Given the description of an element on the screen output the (x, y) to click on. 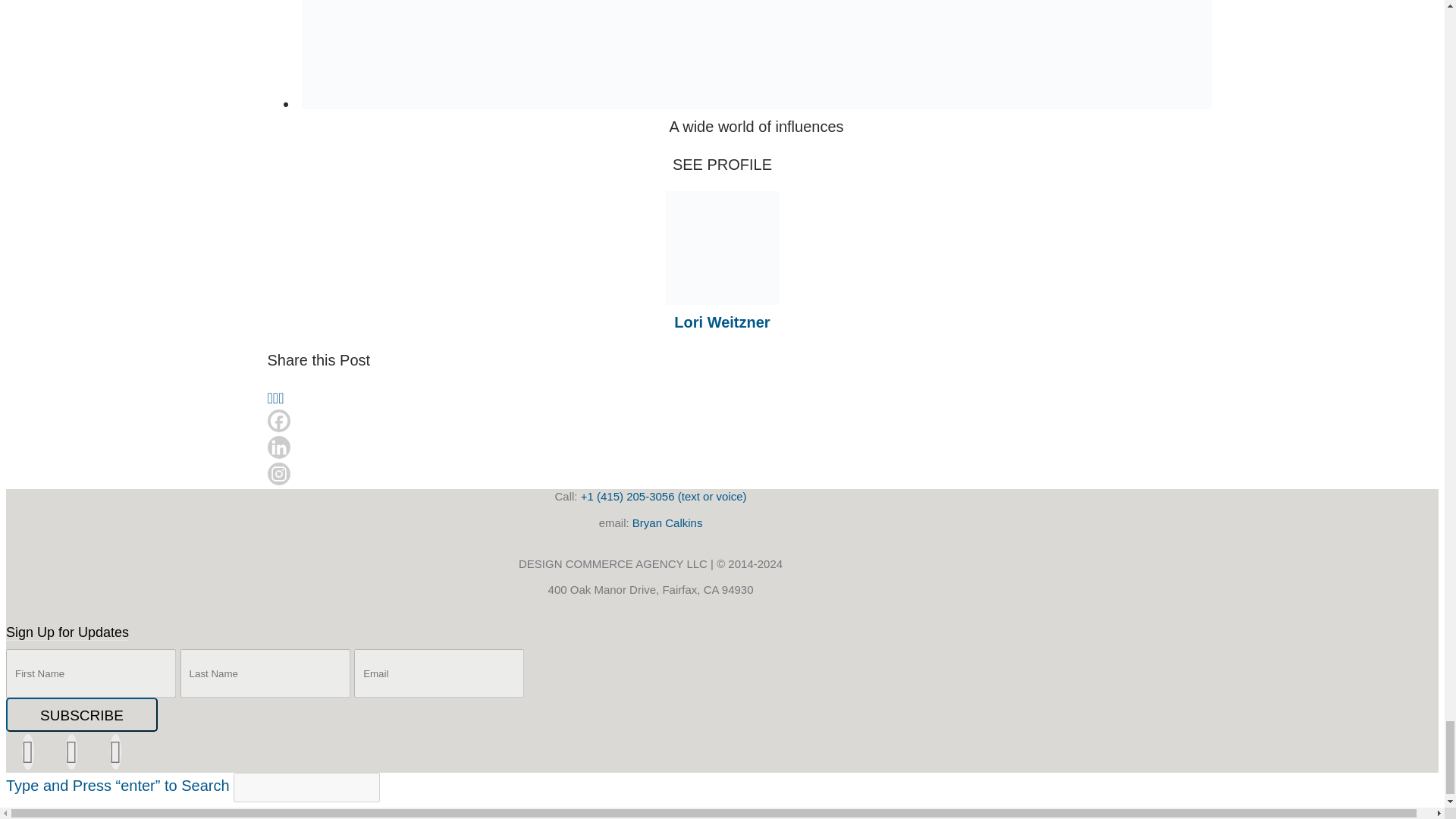
Lori Weitzner (722, 321)
Subscribe (81, 714)
Instagram (277, 473)
Facebook (277, 420)
Subscribe (81, 714)
Linkedin (277, 446)
Bryan Calkins (667, 522)
